Given the description of an element on the screen output the (x, y) to click on. 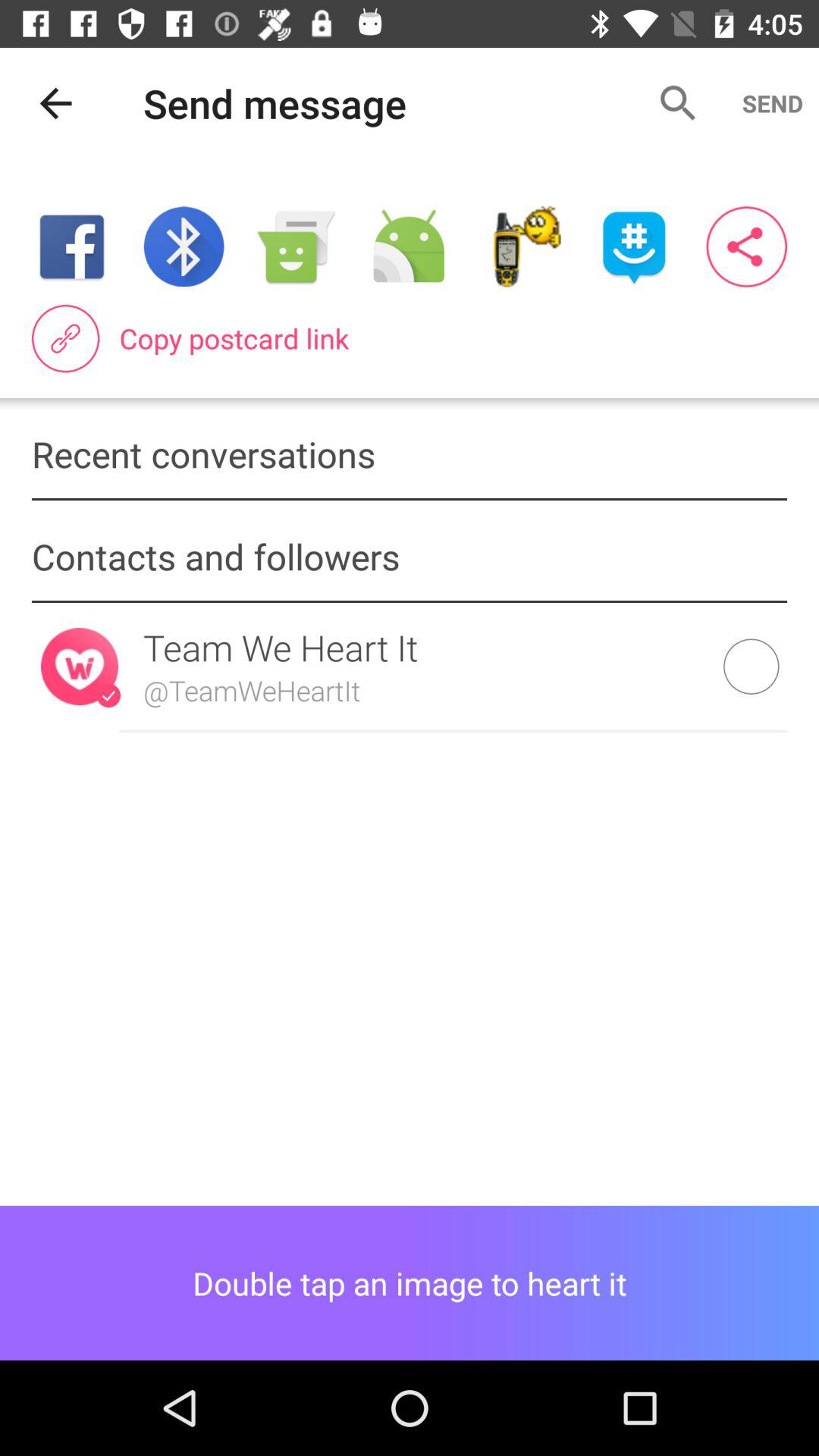
click the item above copy postcard link icon (408, 246)
